Given the description of an element on the screen output the (x, y) to click on. 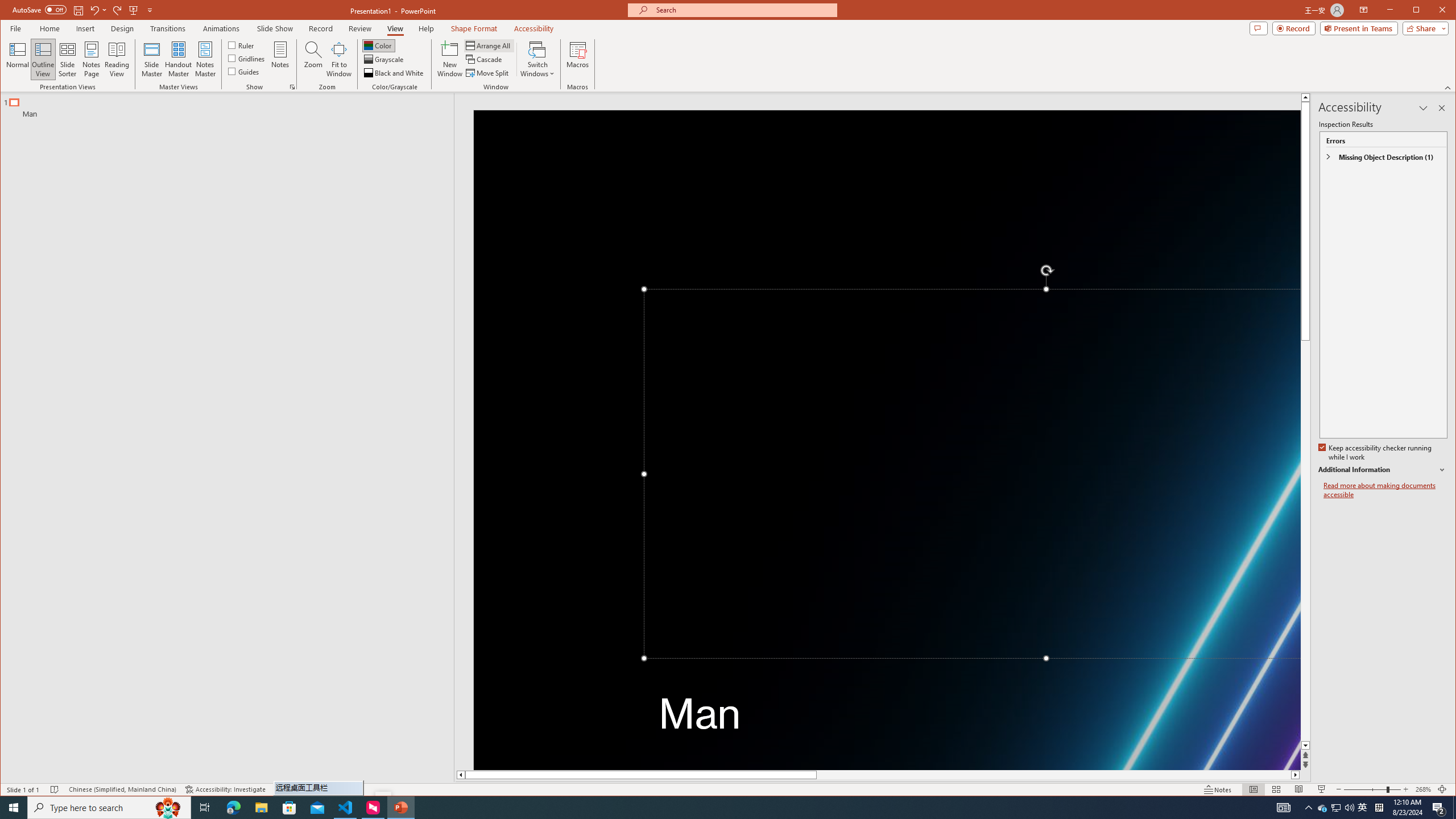
Neon laser lights aligned to form a triangle (886, 439)
Switch Windows (537, 59)
Zoom 268% (1422, 789)
Gridlines (246, 57)
Slide Master (151, 59)
